Given the description of an element on the screen output the (x, y) to click on. 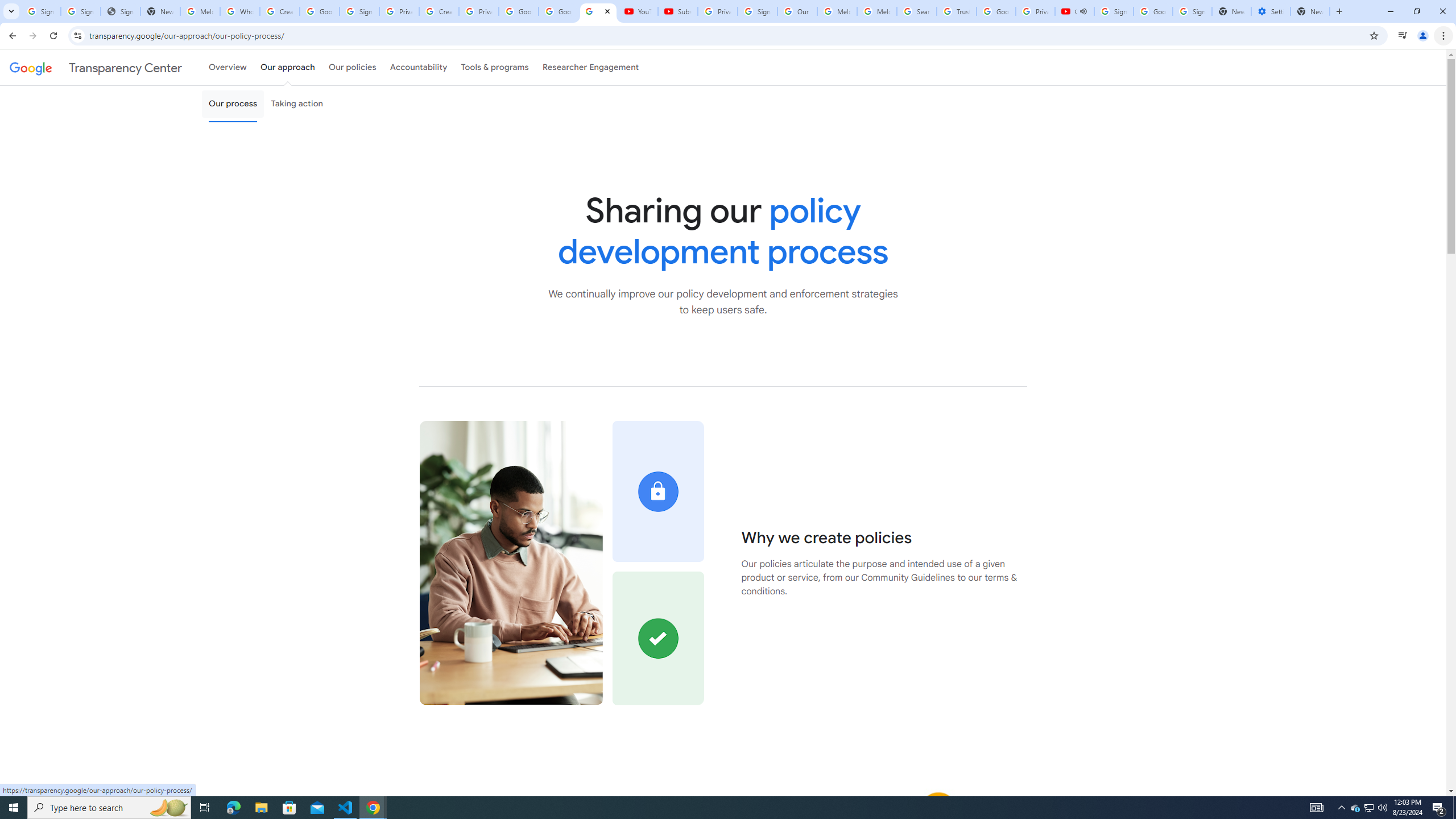
Who is my administrator? - Google Account Help (239, 11)
Sign in - Google Accounts (80, 11)
Google Cybersecurity Innovations - Google Safety Center (1152, 11)
Sign In - USA TODAY (120, 11)
Create your Google Account (438, 11)
Our process (232, 103)
Sign in - Google Accounts (1113, 11)
Accountability (418, 67)
Sign in - Google Accounts (757, 11)
Create your Google Account (279, 11)
Our approach (287, 67)
Trusted Information and Content - Google Safety Center (956, 11)
